Given the description of an element on the screen output the (x, y) to click on. 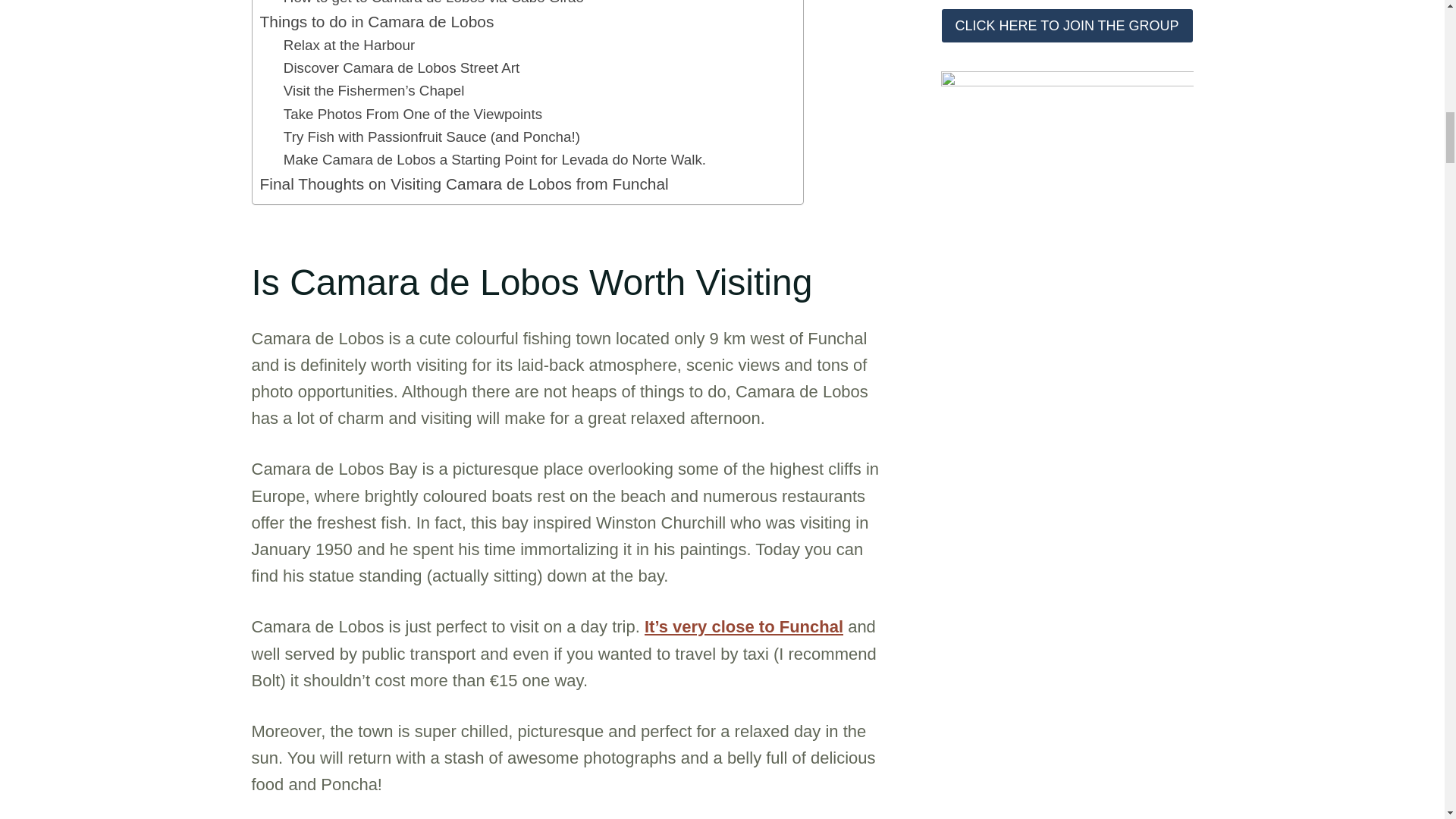
Relax at the Harbour (348, 45)
Things to do in Camara de Lobos (376, 21)
Discover Camara de Lobos Street Art (401, 67)
How to get to Camara de Lobos via Cabo Girao (433, 4)
Take Photos From One of the Viewpoints (412, 114)
